Given the description of an element on the screen output the (x, y) to click on. 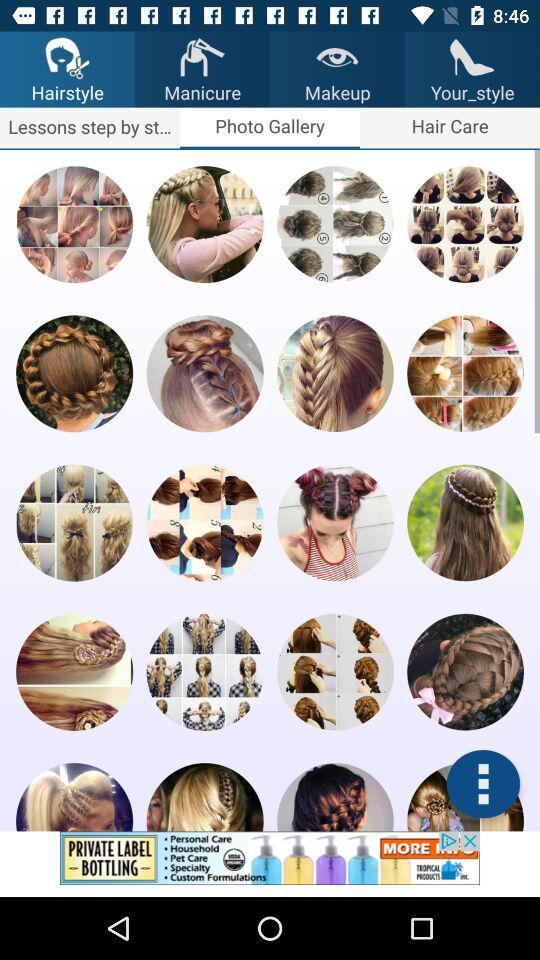
more info (483, 784)
